Given the description of an element on the screen output the (x, y) to click on. 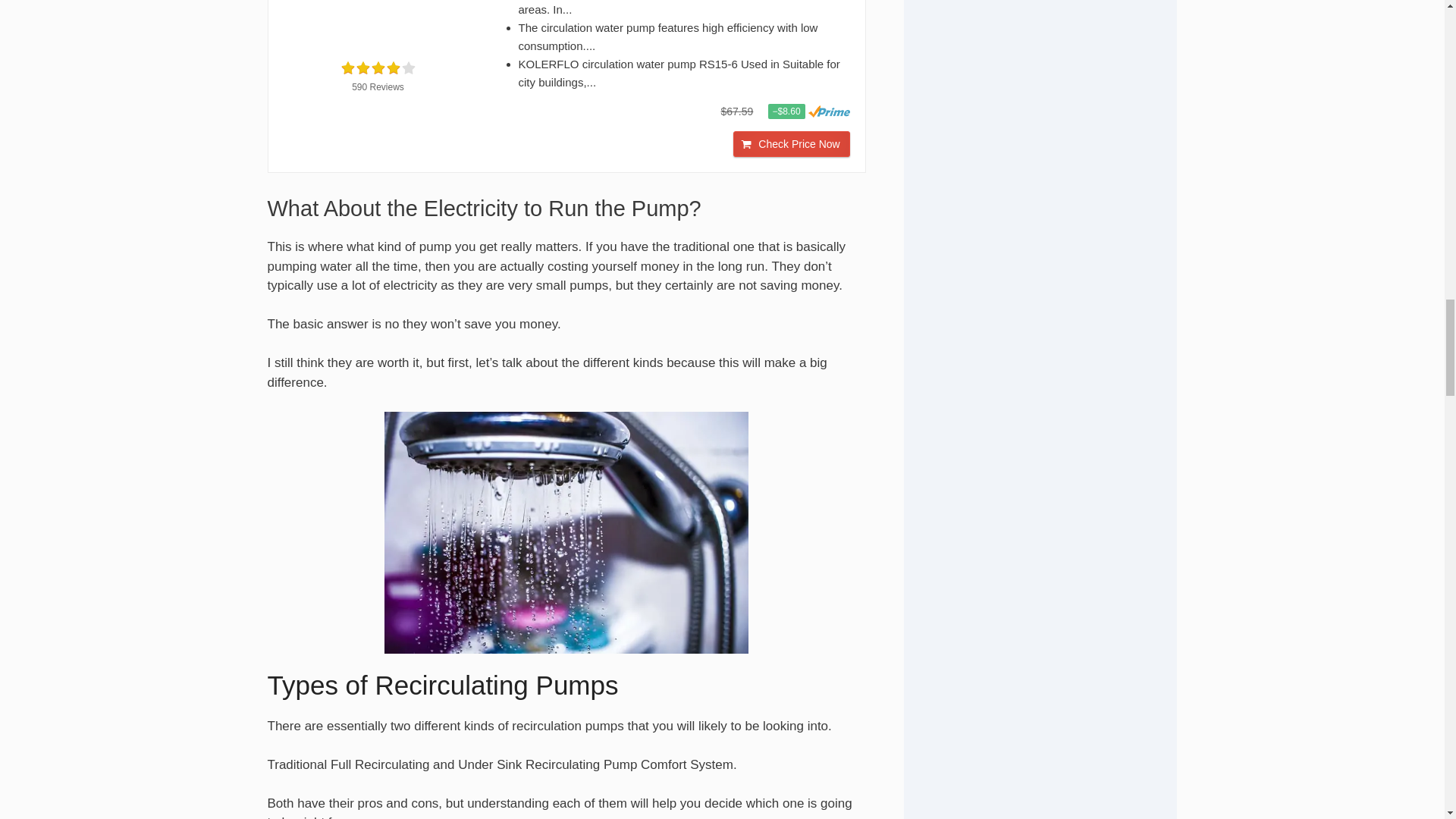
KOLERFLO Circulation Pump (378, 23)
Reviews on Amazon (376, 68)
Check Price Now (790, 144)
Amazon Prime (829, 111)
